Given the description of an element on the screen output the (x, y) to click on. 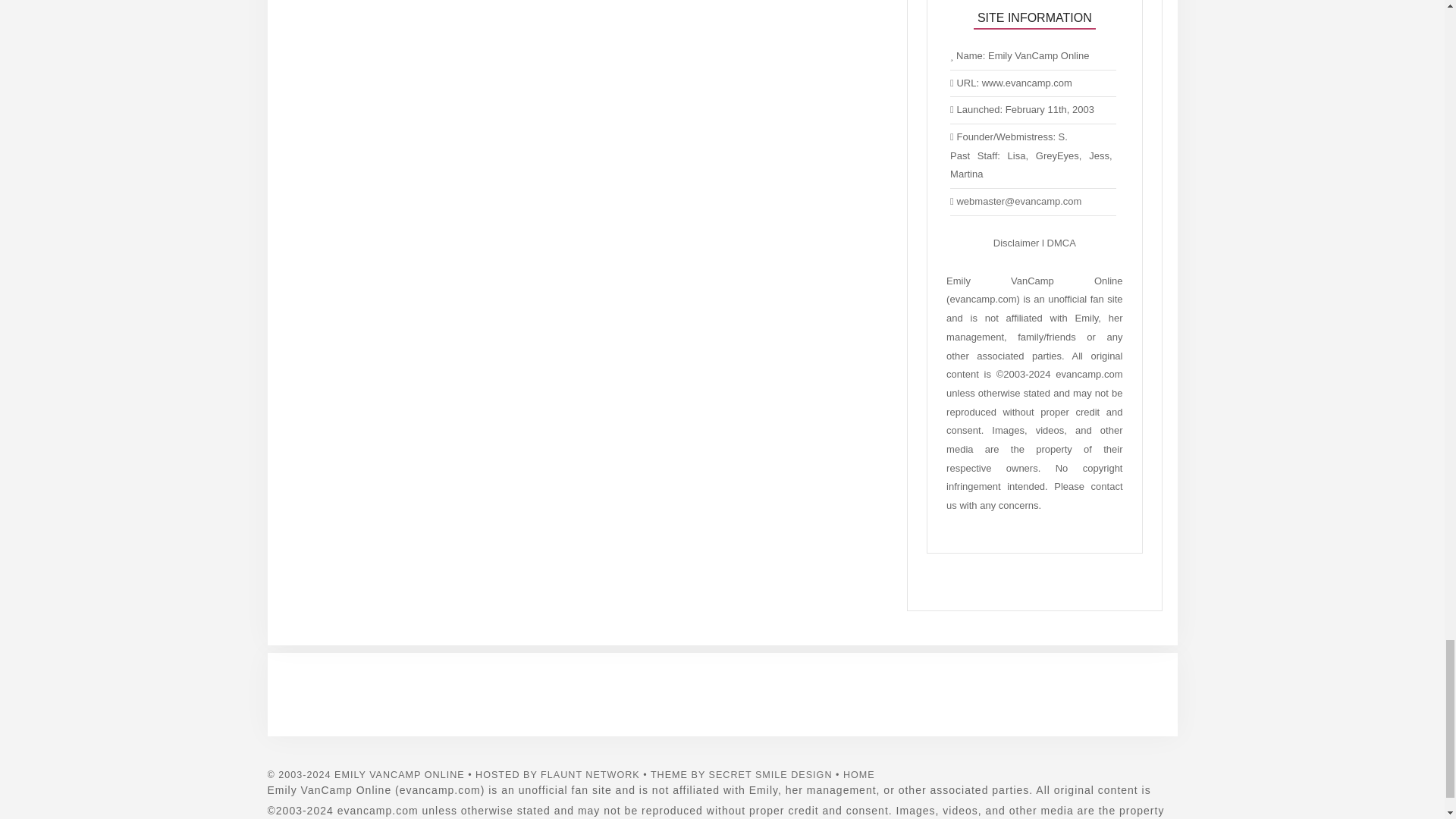
SECRET SMILE DESIGN (770, 774)
HOME (859, 774)
Disclaimer (1015, 242)
DMCA (1060, 242)
FLAUNT NETWORK (590, 774)
contact us (1034, 495)
